Given the description of an element on the screen output the (x, y) to click on. 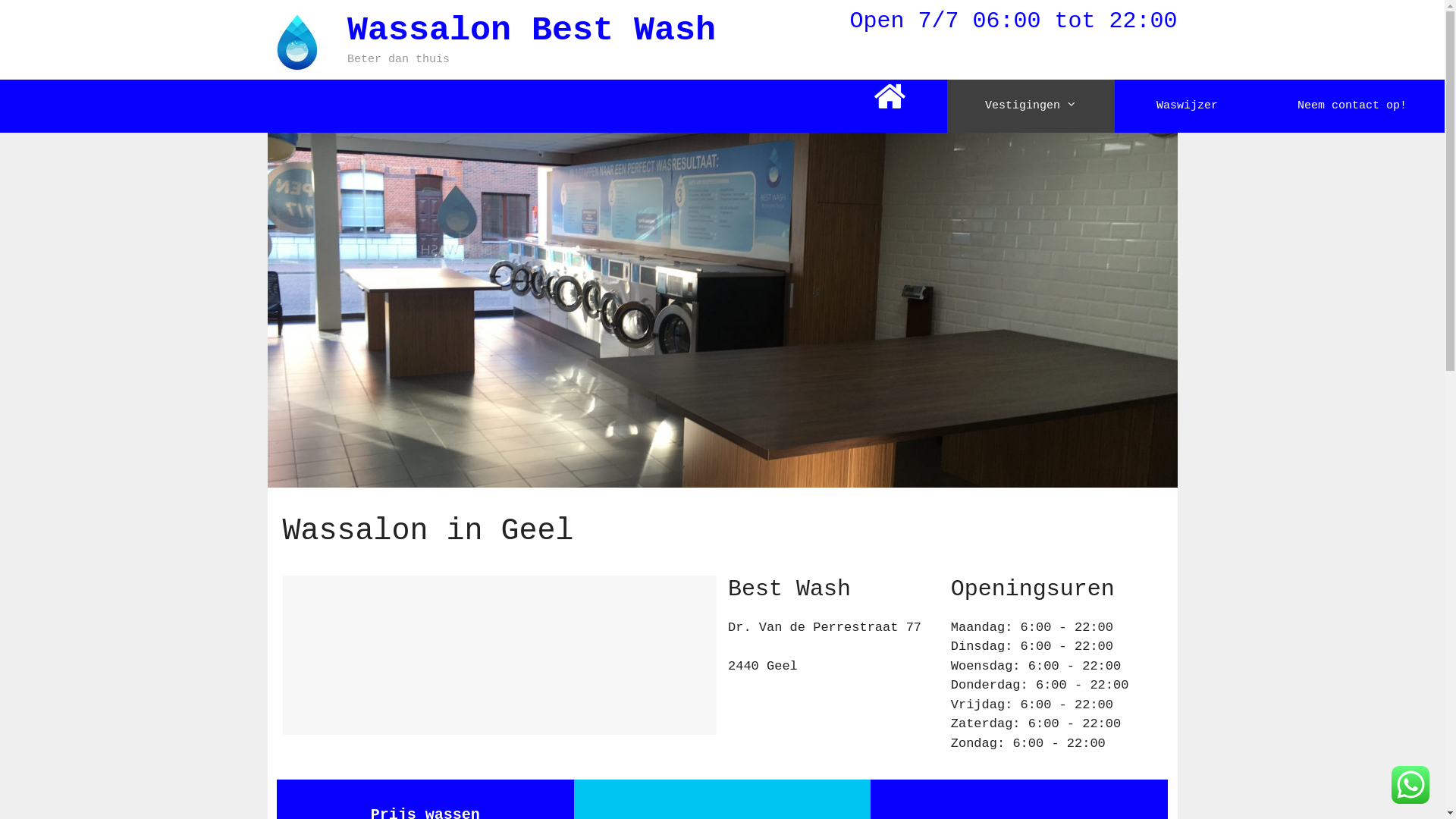
Waswijzer Element type: text (1186, 105)
Wassalon Best Wash Element type: text (531, 30)
Vestigingen Element type: text (1030, 105)
Neem contact op! Element type: text (1351, 105)
